Given the description of an element on the screen output the (x, y) to click on. 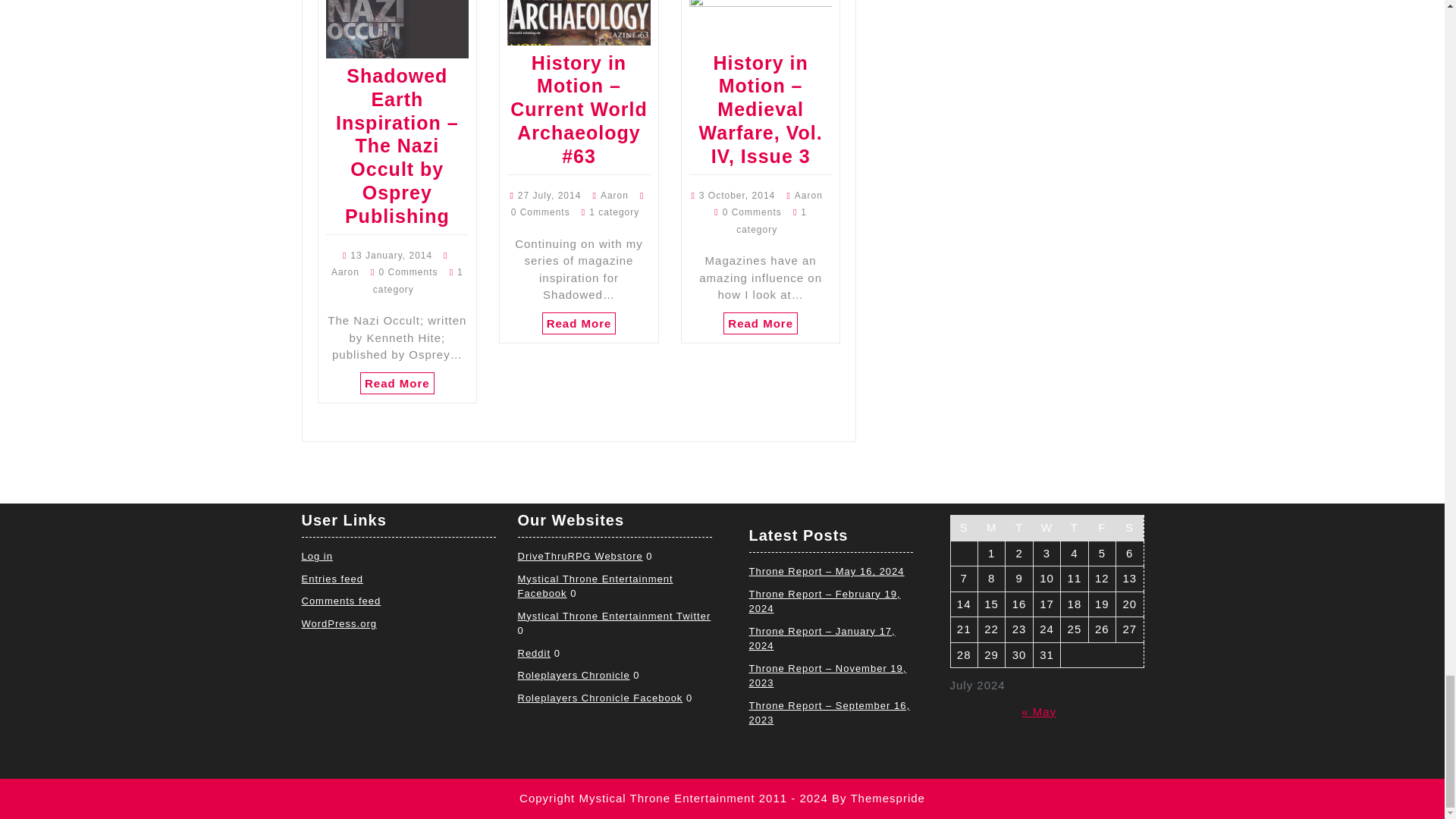
Read More (760, 323)
Read More (578, 323)
Read More (396, 382)
